Given the description of an element on the screen output the (x, y) to click on. 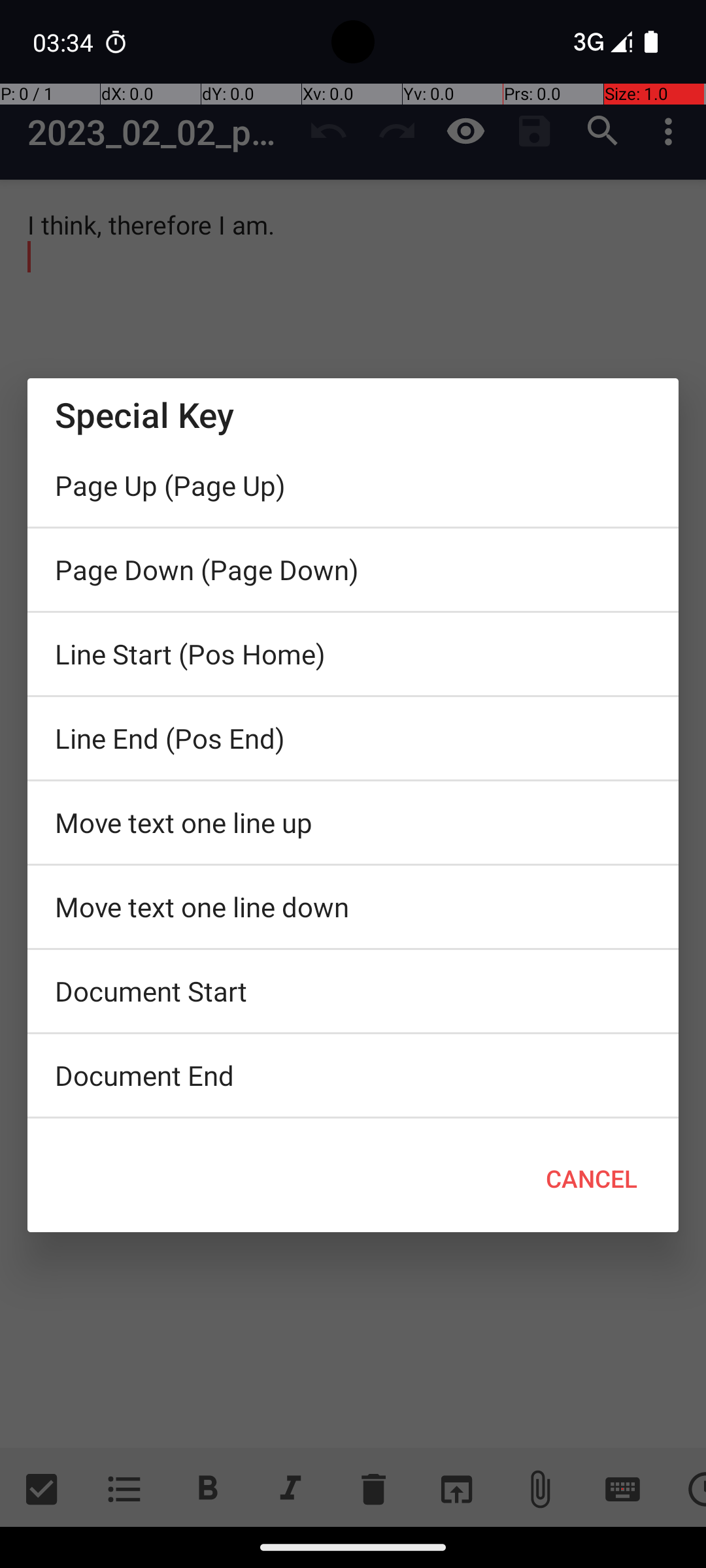
03:34 Element type: android.widget.TextView (64, 41)
